Given the description of an element on the screen output the (x, y) to click on. 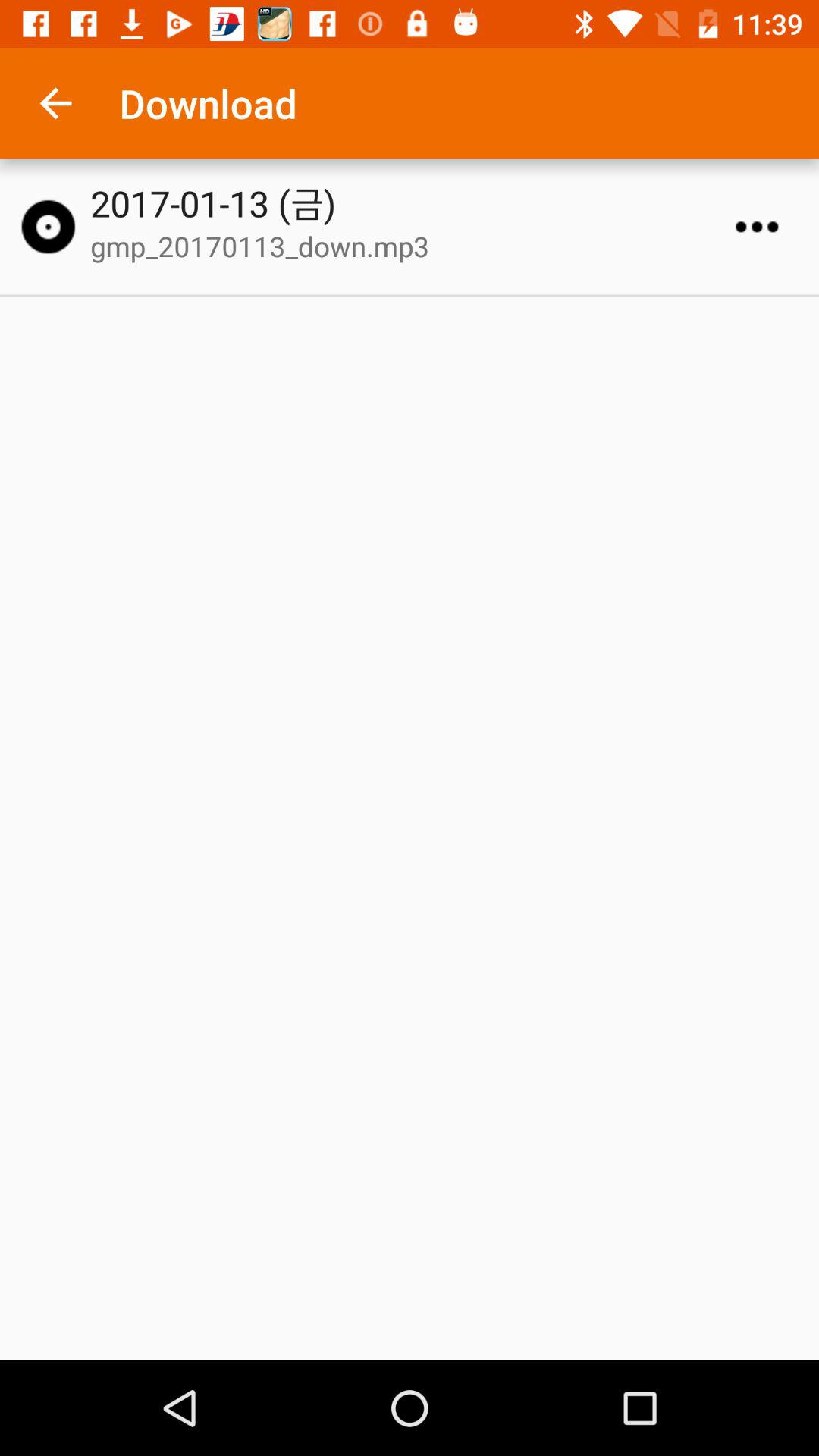
open the gmp_20170113_down.mp3 item (416, 246)
